Given the description of an element on the screen output the (x, y) to click on. 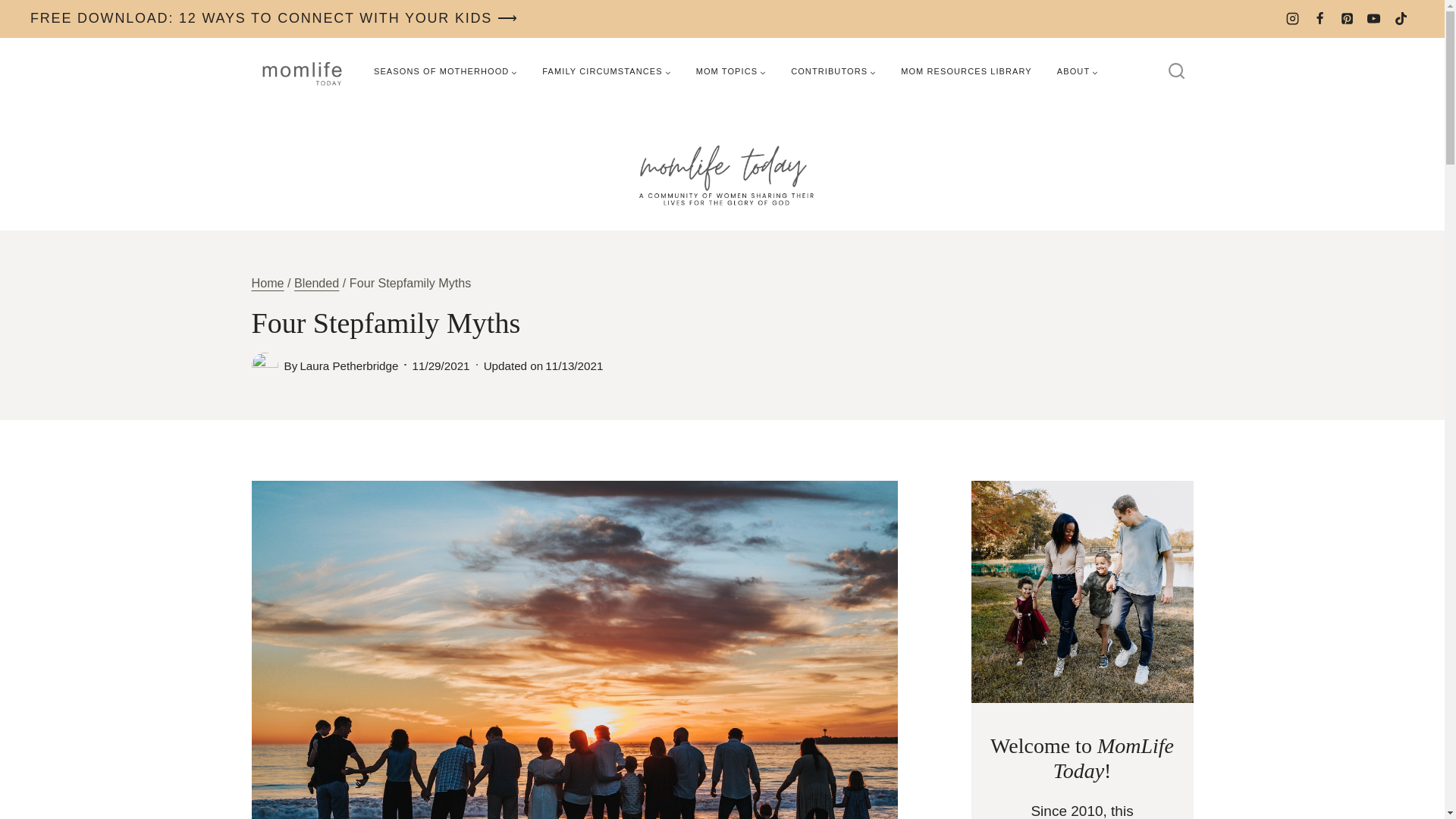
SEASONS OF MOTHERHOOD (445, 71)
MOM TOPICS (730, 71)
FAMILY CIRCUMSTANCES (605, 71)
MOM RESOURCES LIBRARY (966, 71)
CONTRIBUTORS (833, 71)
